Given the description of an element on the screen output the (x, y) to click on. 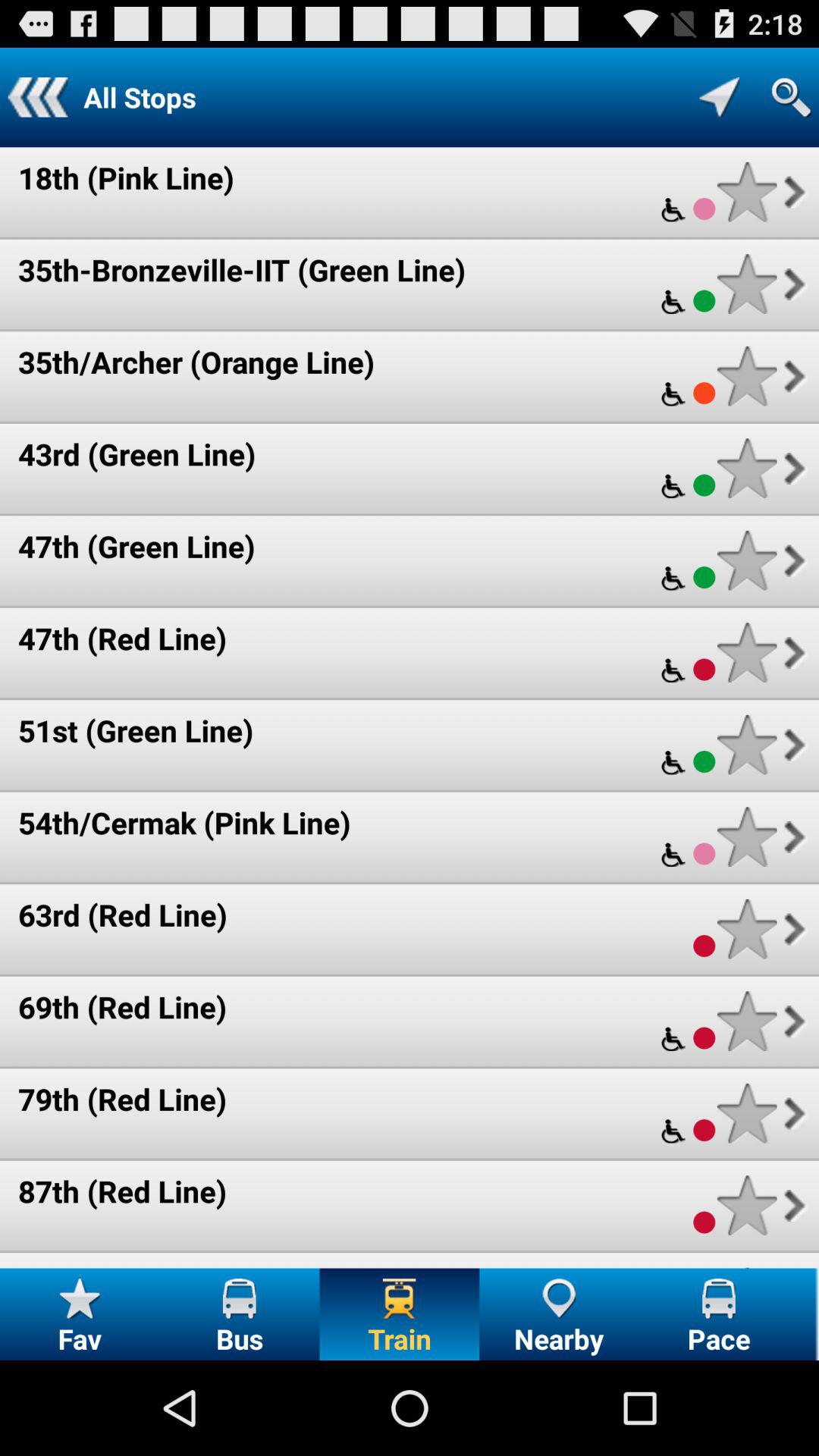
go back (37, 97)
